Given the description of an element on the screen output the (x, y) to click on. 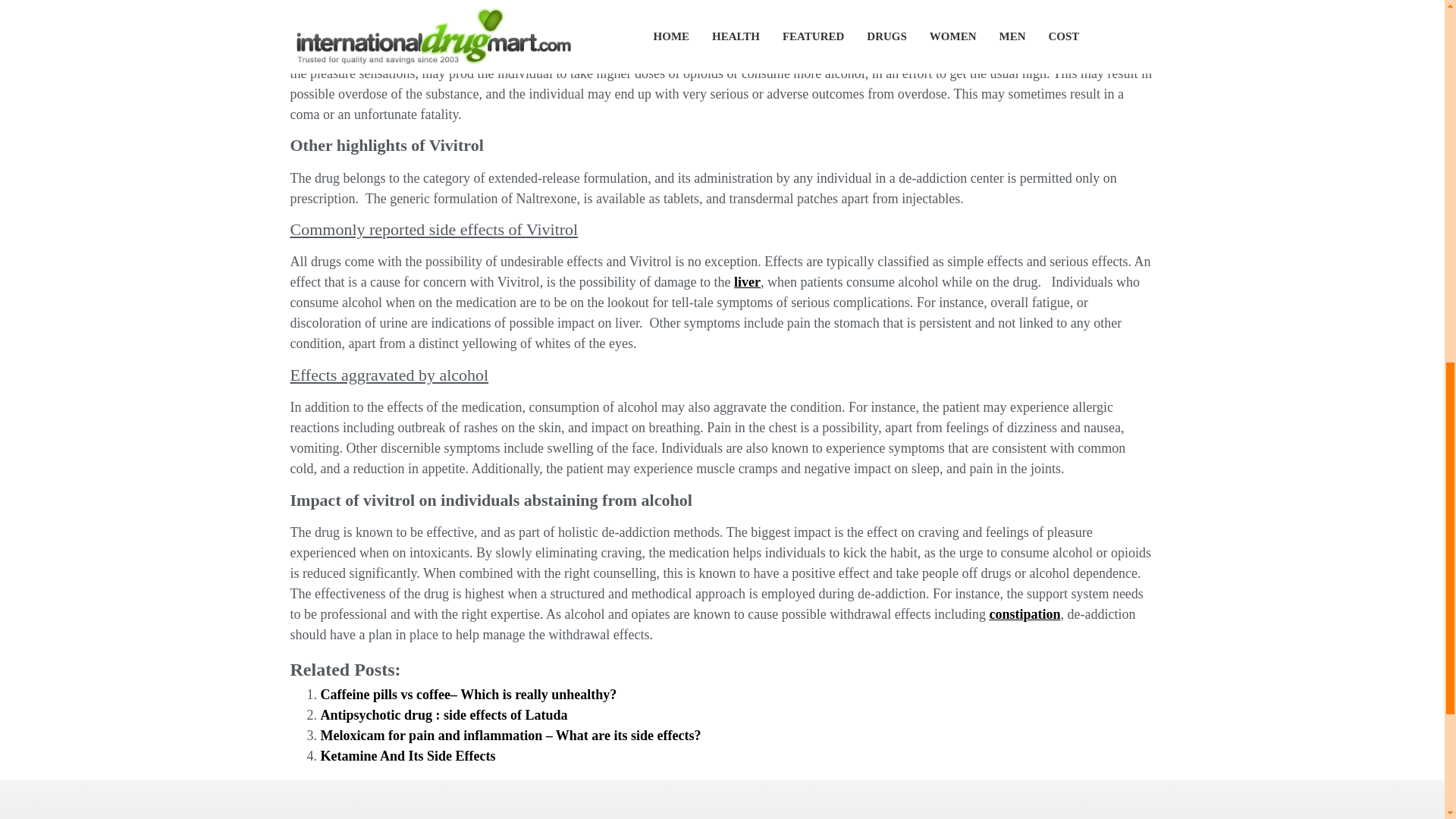
Antipsychotic drug : side effects of Latuda (443, 714)
constipation (1023, 613)
liver (746, 281)
Ketamine And Its Side Effects (407, 755)
Antipsychotic drug : side effects of Latuda (443, 714)
Ketamine And Its Side Effects (407, 755)
